Given the description of an element on the screen output the (x, y) to click on. 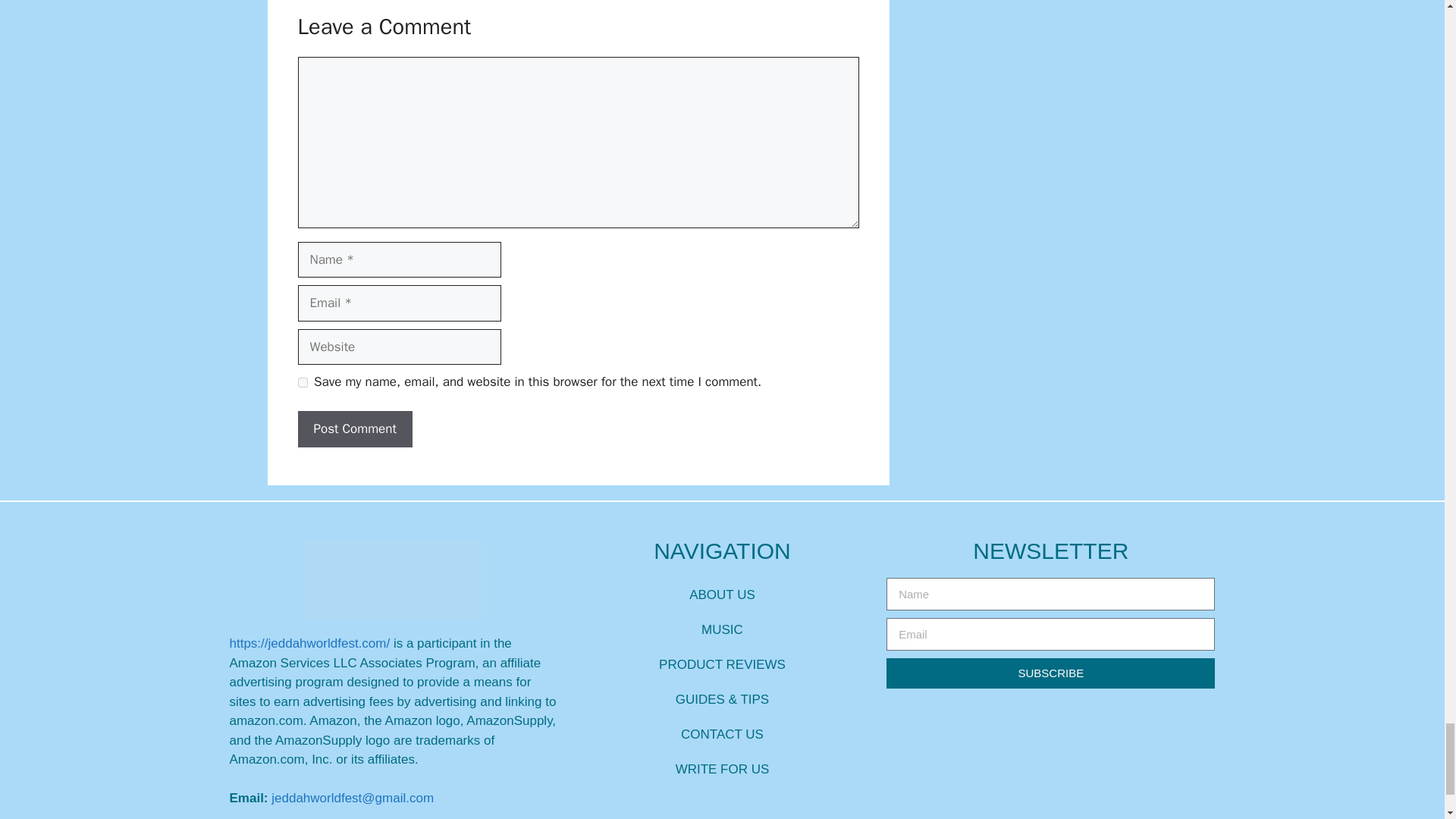
Post Comment (354, 429)
yes (302, 382)
